Given the description of an element on the screen output the (x, y) to click on. 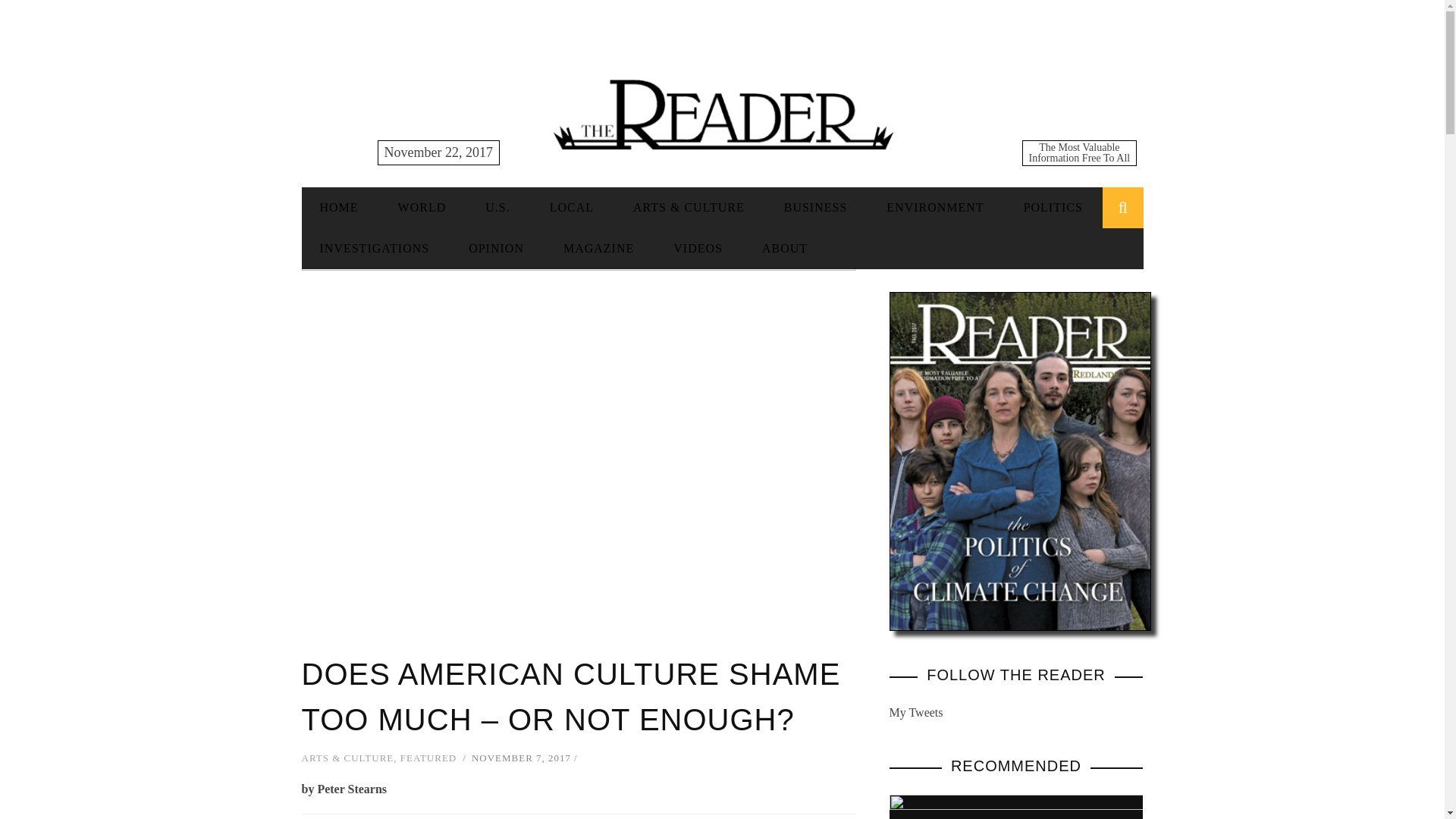
WORLD (422, 206)
HOME (339, 206)
